Given the description of an element on the screen output the (x, y) to click on. 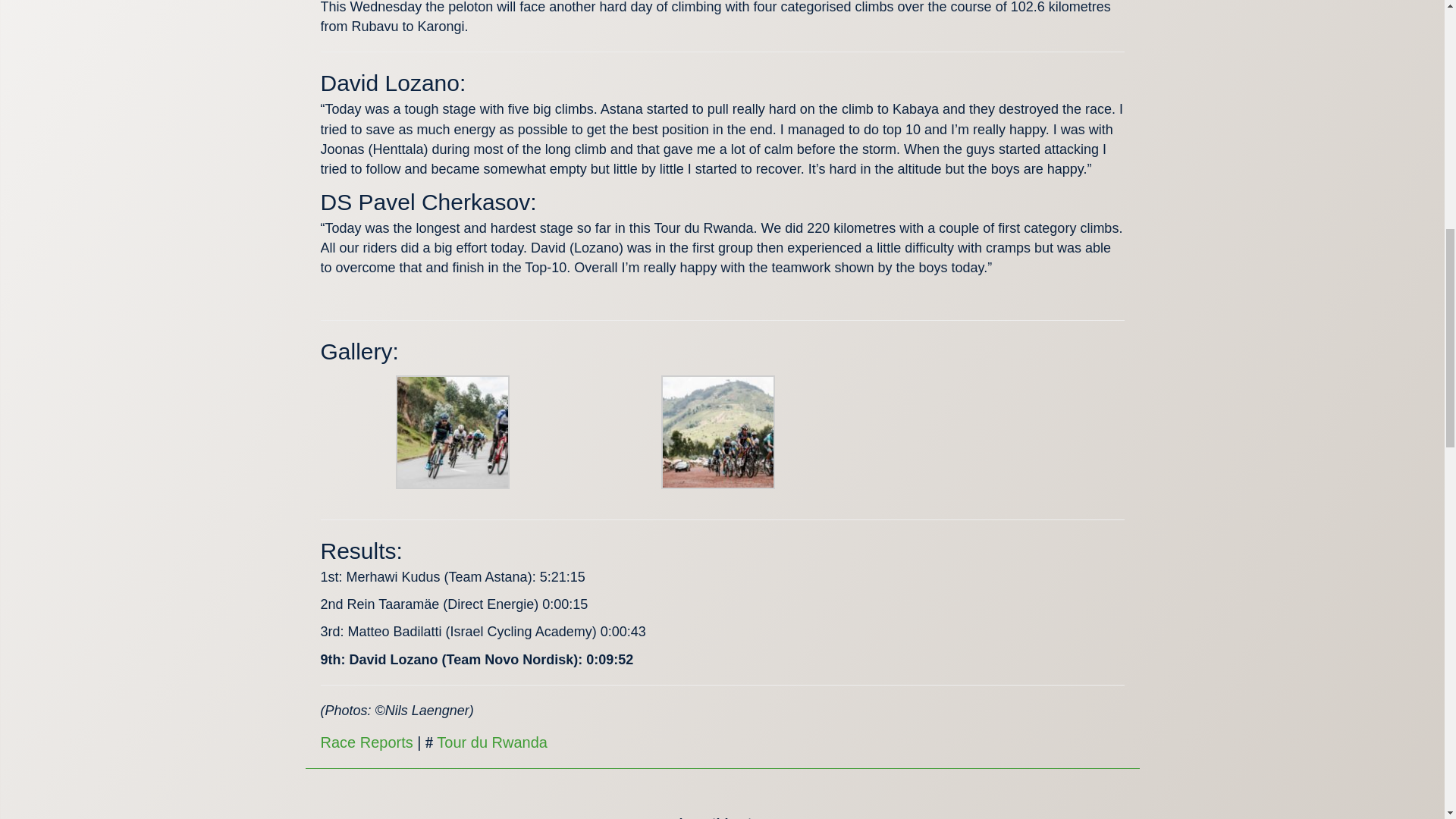
Tour du Rwanda (491, 742)
Race Reports (366, 742)
